Given the description of an element on the screen output the (x, y) to click on. 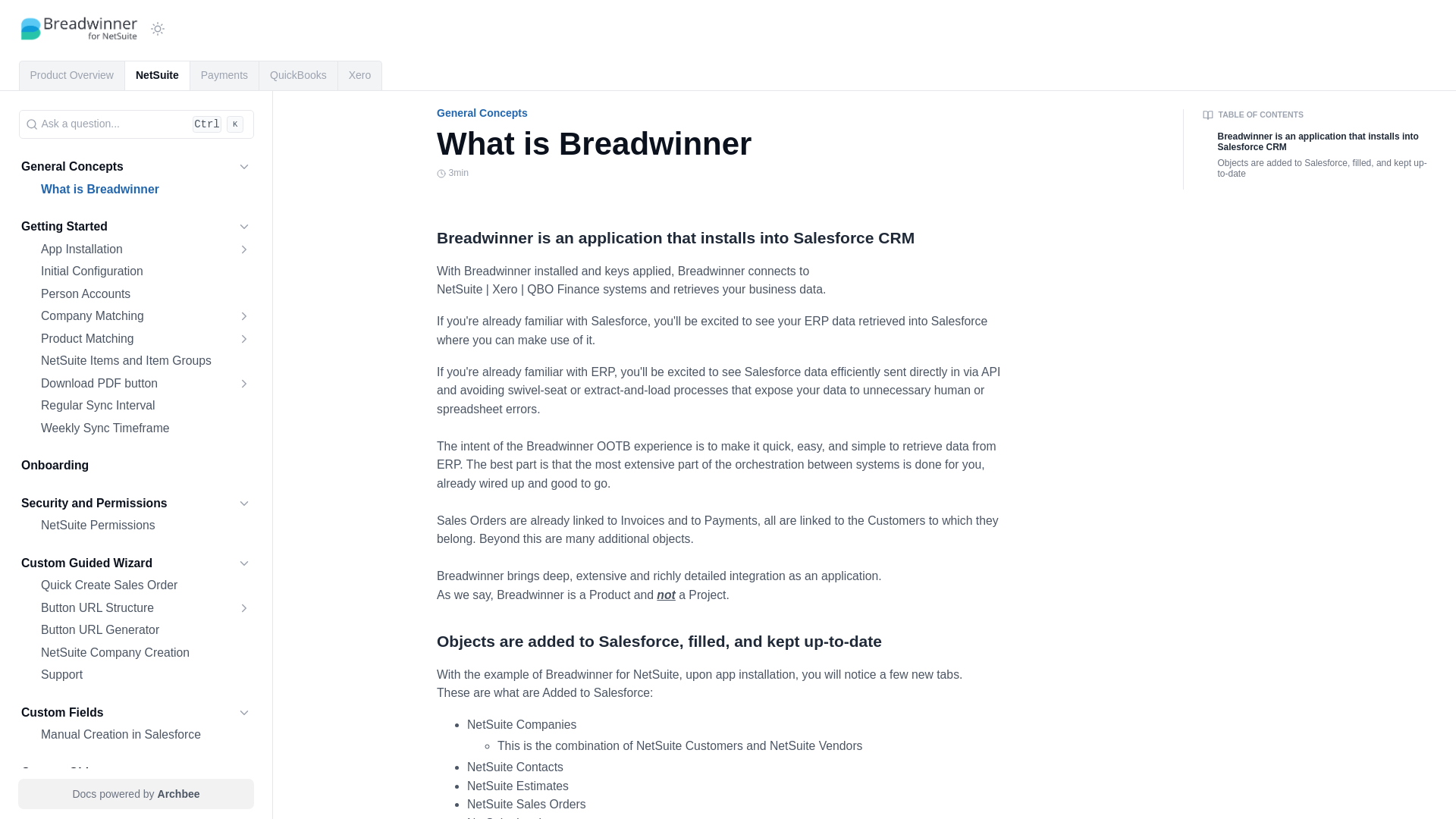
Regular Sync Interval (145, 405)
App Installation (145, 248)
App Installation (145, 248)
NetSuite Items and Item Groups (145, 361)
What is Breadwinner (145, 189)
Person Accounts (145, 294)
Download PDF button (145, 383)
Objects are added to Salesforce, filled, and kept up-to-date (727, 640)
Getting Started (64, 226)
Custom Objects (135, 772)
